Given the description of an element on the screen output the (x, y) to click on. 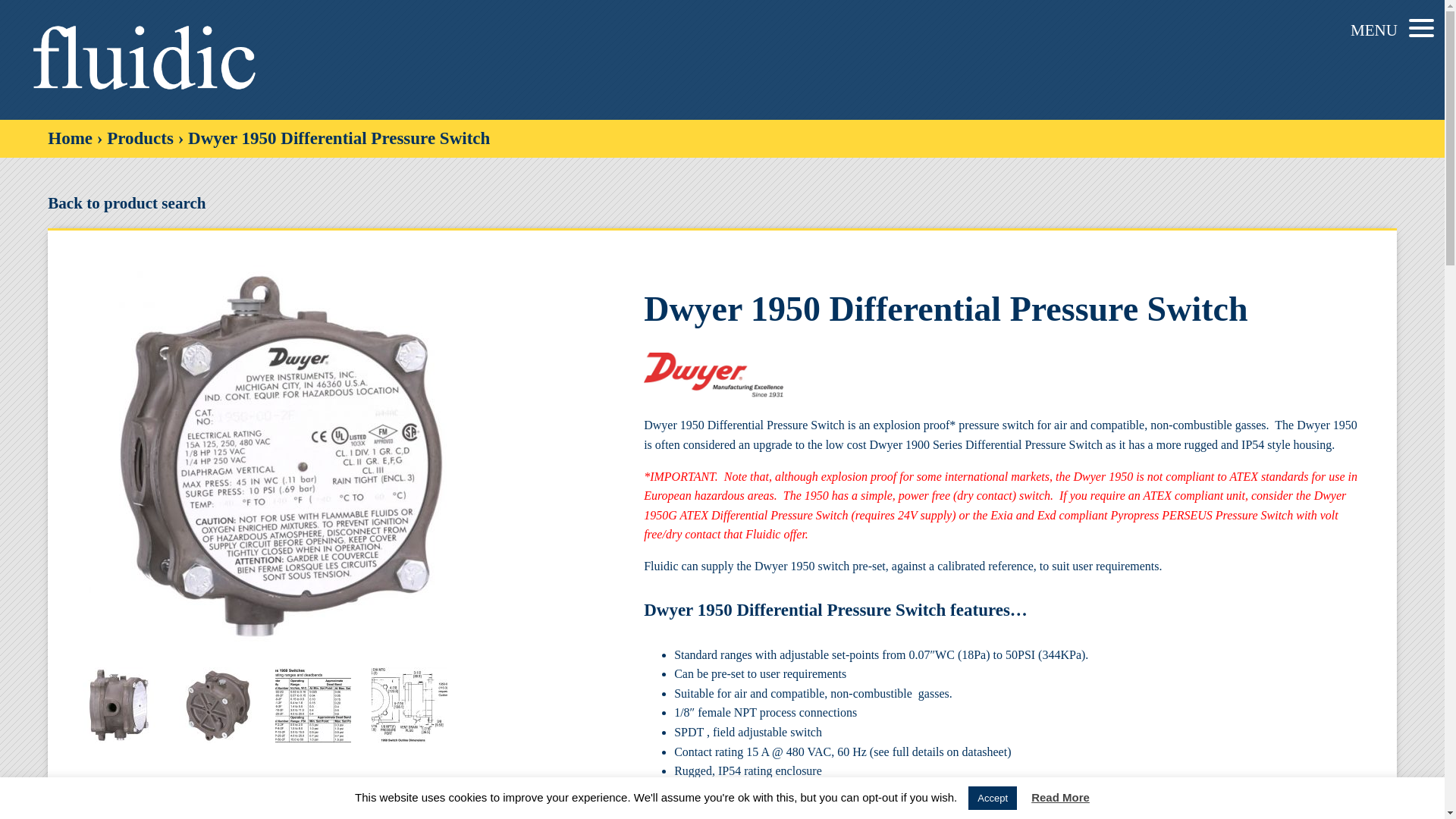
Pyropress PERSEUS Pressure Switch (1200, 514)
Dwyer 1950 Differential Pressure Switch (120, 704)
Dwyer 1950 Models (312, 704)
Products (139, 138)
Back to product search (722, 203)
Home (70, 138)
Dwyer 1950 Dimensions (408, 704)
Dwyer 1950G ATEX Differential Pressure Switch (994, 504)
Dwyer 1950 Differential Pressure Switch (216, 704)
Dwyer 1900 Series Differential Pressure Switch (985, 444)
